Given the description of an element on the screen output the (x, y) to click on. 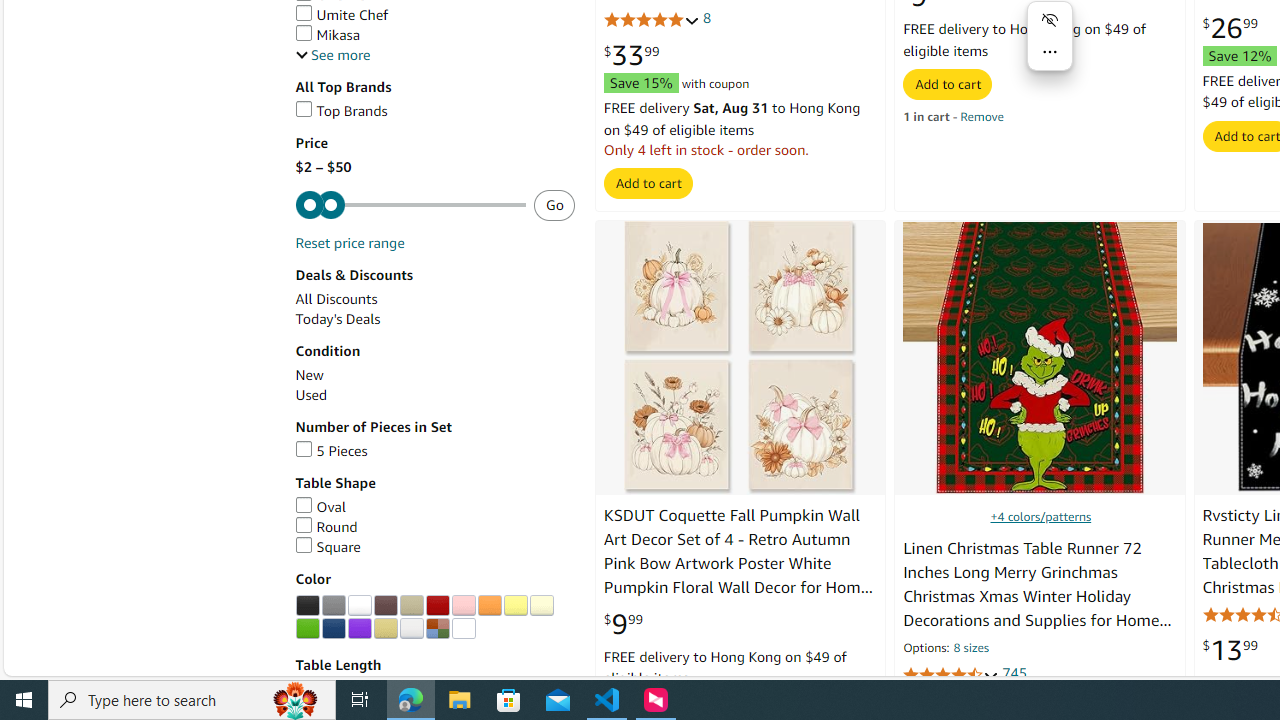
AutomationID: p_n_feature_twenty_browse-bin/3254100011 (359, 605)
AutomationID: p_n_feature_twenty_browse-bin/3254110011 (359, 628)
$26.99 (1230, 28)
Purple (359, 628)
Oval (319, 506)
Round (434, 527)
More actions (1049, 51)
Brown (385, 605)
Go back to filtering menu (84, 666)
Yellow (515, 605)
Go - Submit price range (554, 205)
Used (310, 394)
AutomationID: p_n_feature_twenty_browse-bin/3254109011 (333, 628)
Beige (411, 605)
